Given the description of an element on the screen output the (x, y) to click on. 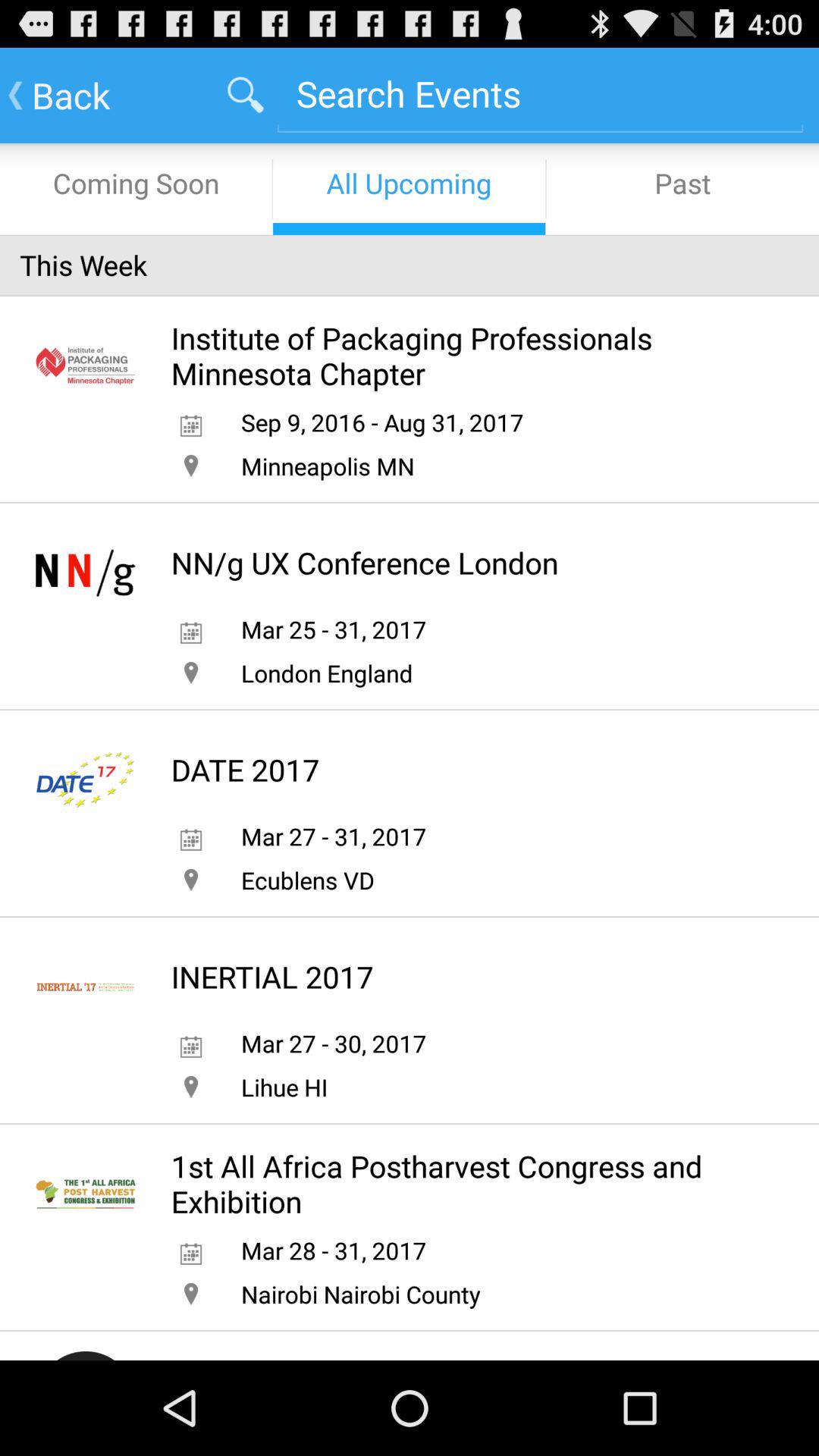
search events (540, 93)
